Given the description of an element on the screen output the (x, y) to click on. 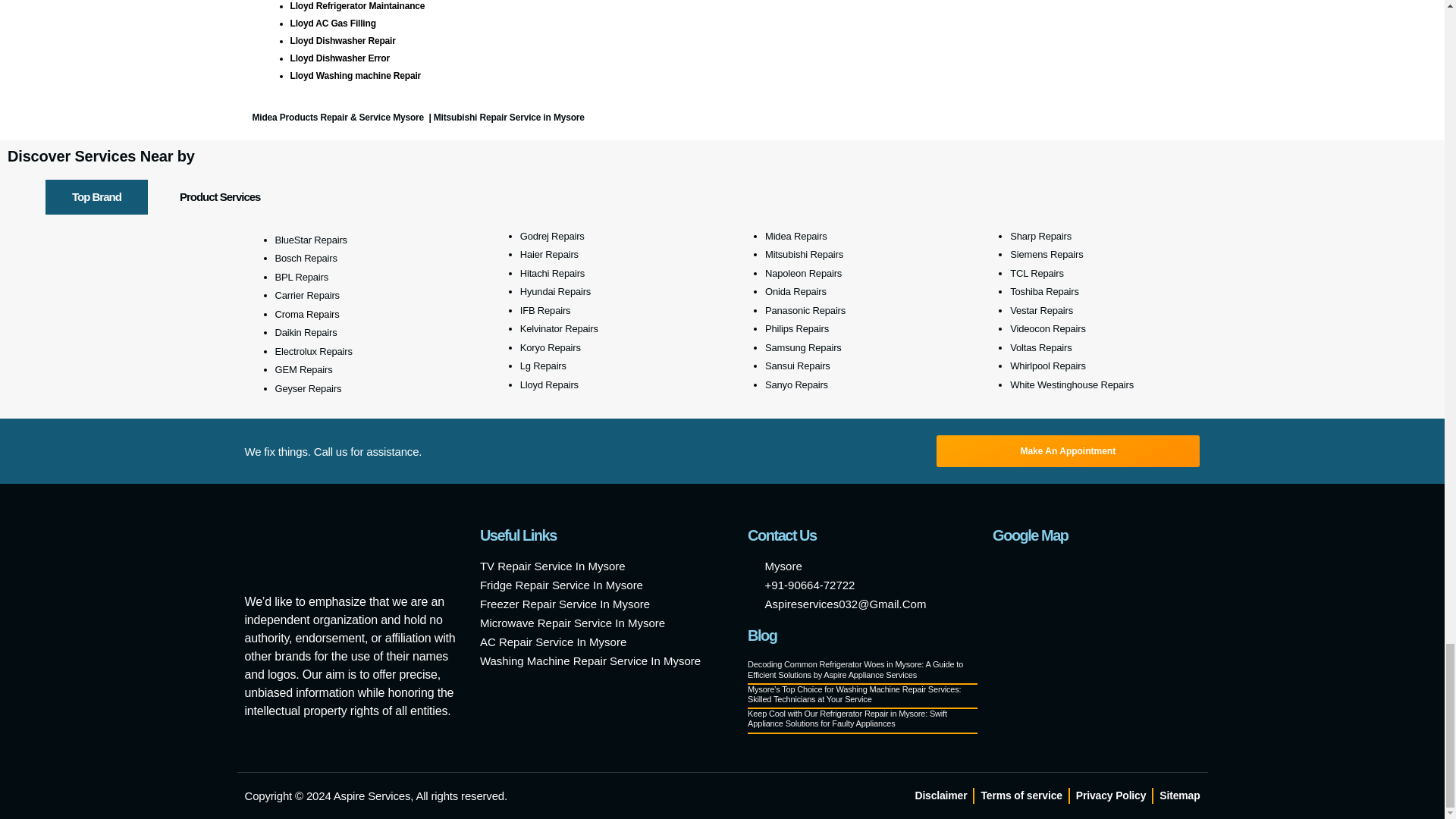
Mysuru Karnataka (1095, 648)
